Given the description of an element on the screen output the (x, y) to click on. 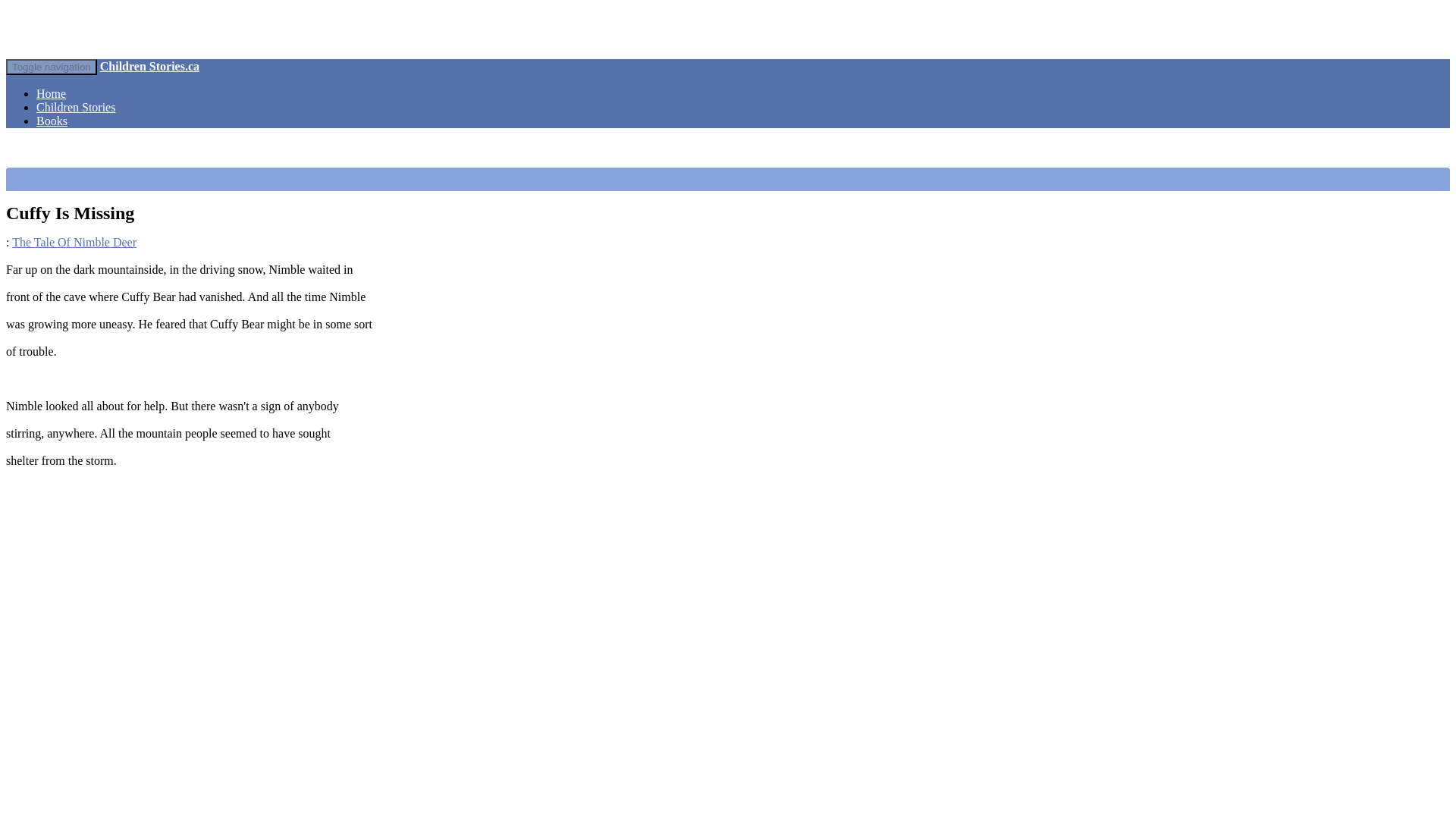
Children Stories.ca (149, 65)
Children Stories (75, 106)
Toggle navigation (51, 66)
The Tale Of Nimble Deer (73, 241)
Books (51, 120)
Home (50, 92)
